Given the description of an element on the screen output the (x, y) to click on. 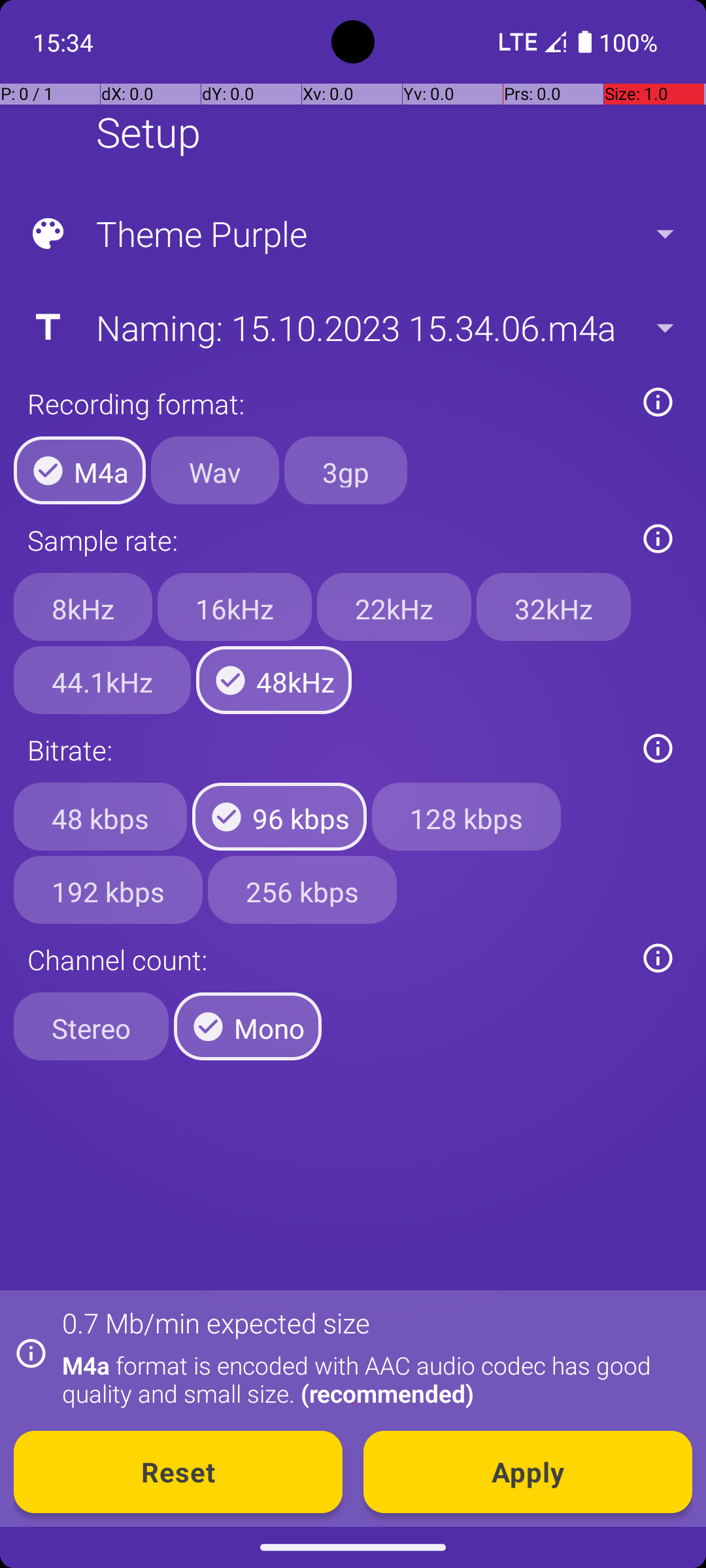
0.7 Mb/min expected size Element type: android.widget.TextView (215, 1322)
Naming: 15.10.2023 15.34.06.m4a Element type: android.widget.TextView (352, 327)
